Given the description of an element on the screen output the (x, y) to click on. 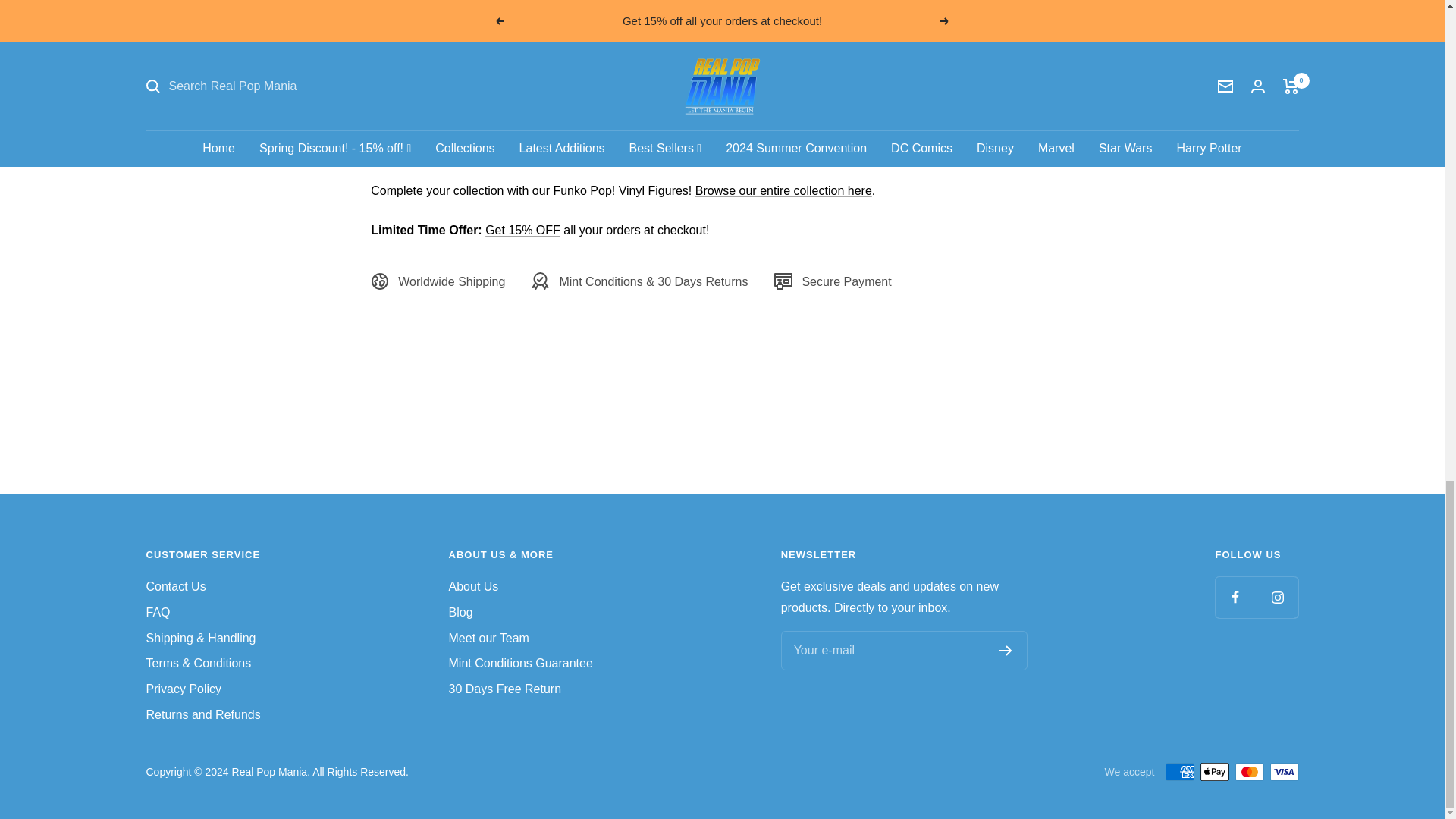
Register (1004, 650)
